Given the description of an element on the screen output the (x, y) to click on. 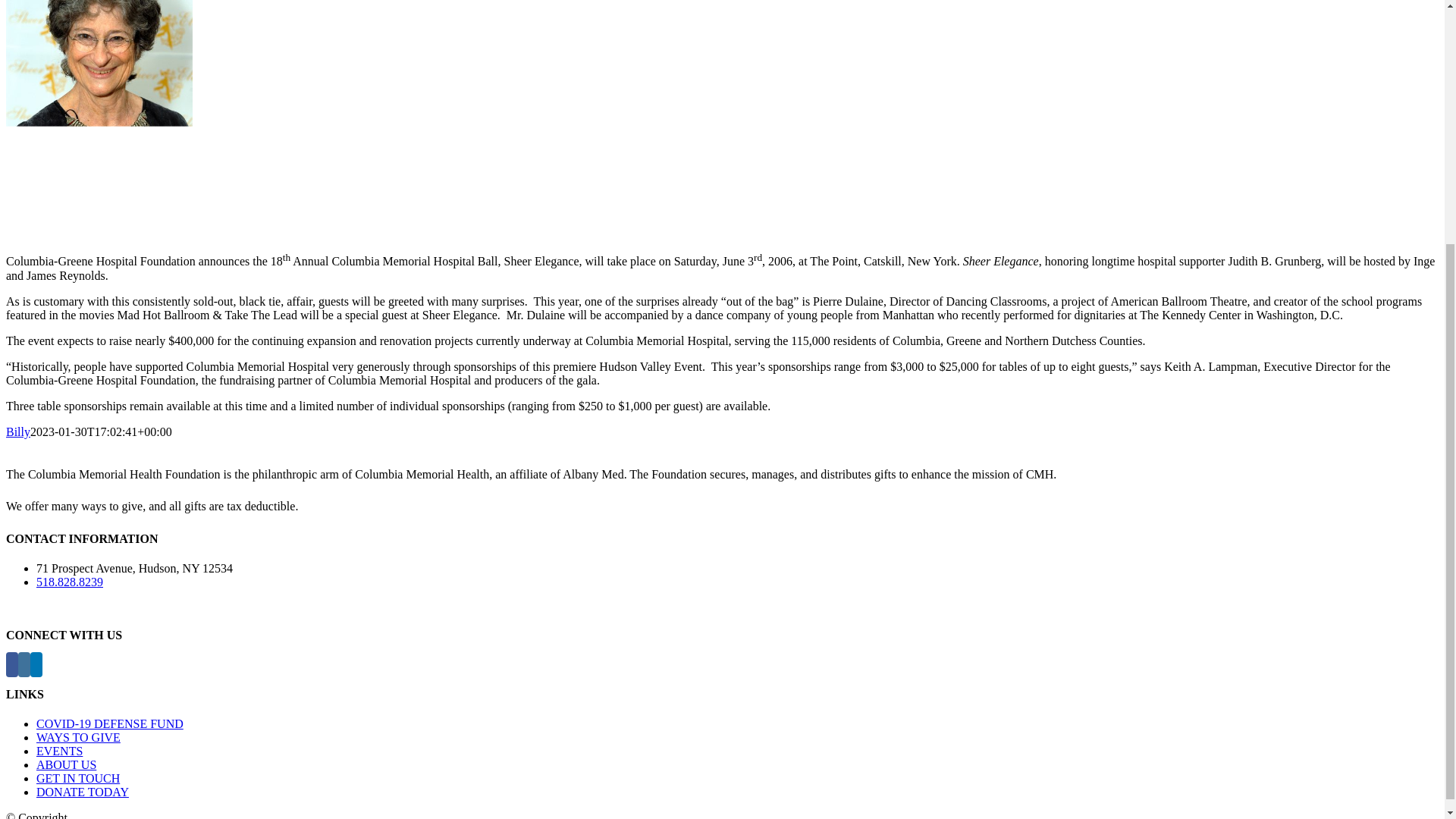
518.828.8239 (69, 581)
WAYS TO GIVE (78, 737)
COVID-19 DEFENSE FUND (109, 723)
DONATE TODAY (82, 791)
ABOUT US (66, 764)
Posts by Billy (17, 431)
Billy (17, 431)
EVENTS (59, 750)
GET IN TOUCH (77, 778)
